Given the description of an element on the screen output the (x, y) to click on. 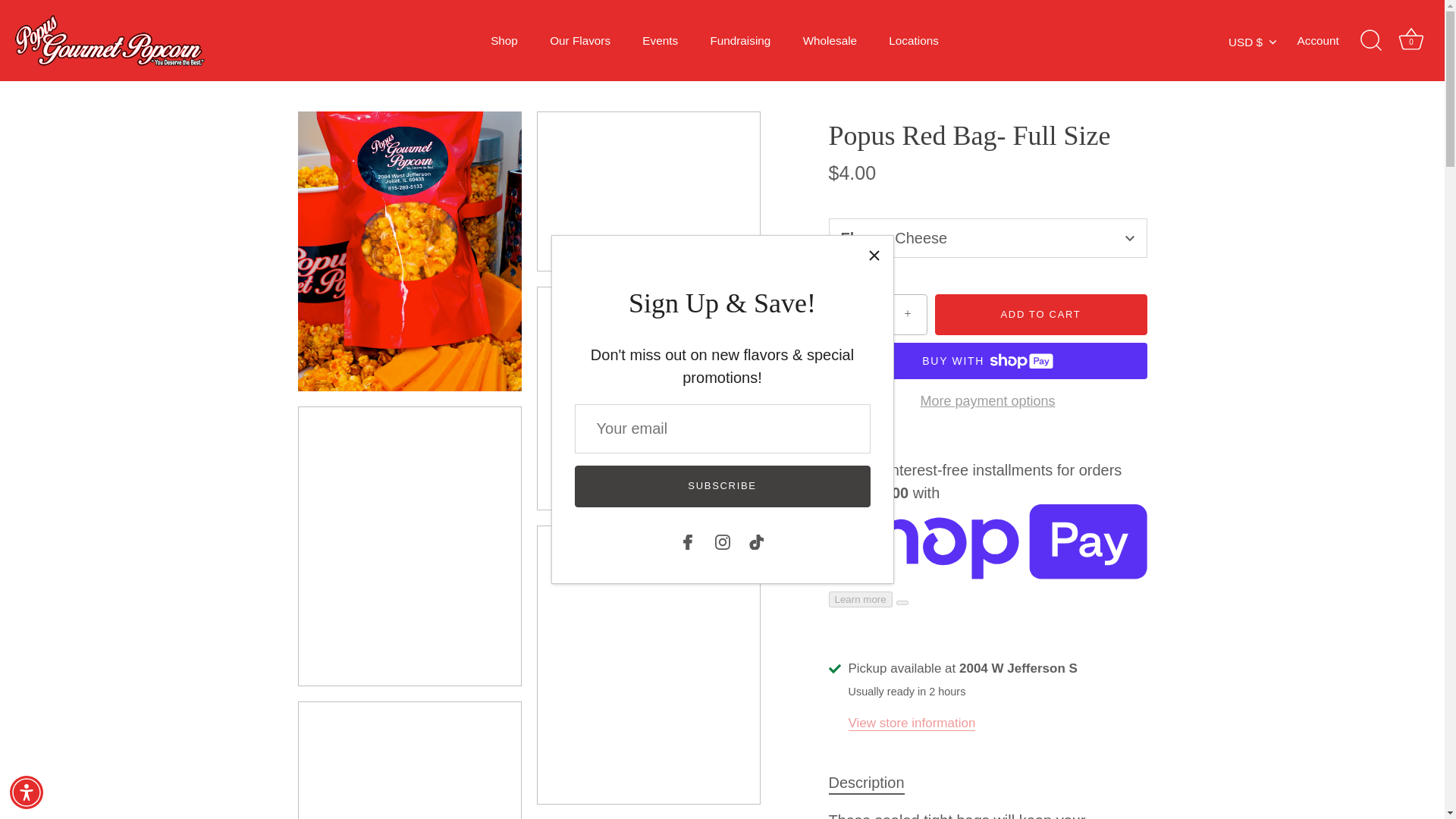
Our Flavors (579, 40)
Accessibility Menu (26, 792)
Fundraising (739, 40)
Wholesale (829, 40)
Basket (1410, 39)
Locations (913, 40)
Shop (504, 40)
Events (659, 40)
Instagram (721, 541)
